Given the description of an element on the screen output the (x, y) to click on. 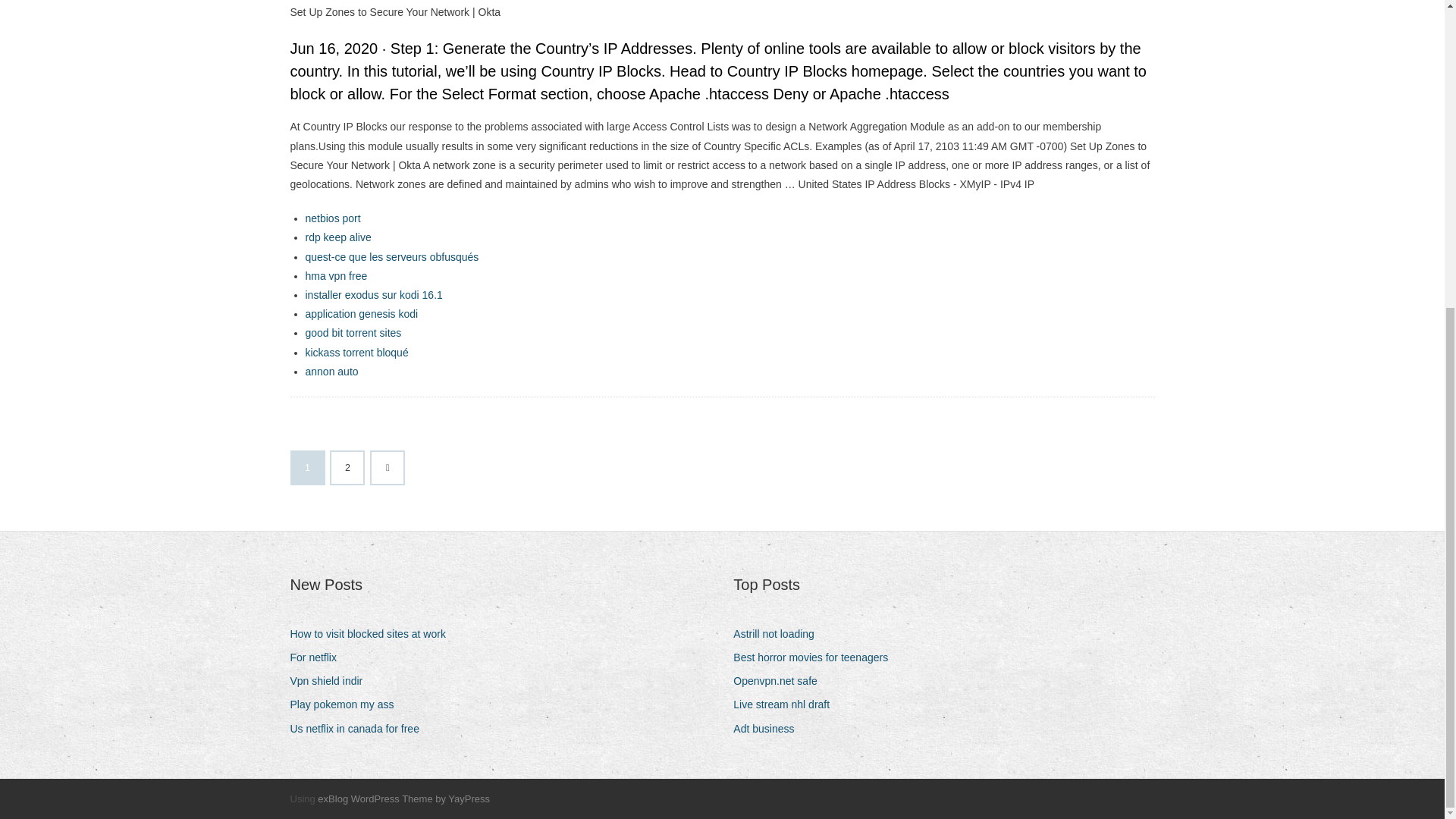
For netflix (318, 657)
application genesis kodi (360, 313)
Live stream nhl draft (787, 704)
hma vpn free (335, 275)
exBlog WordPress Theme by YayPress (403, 798)
Us netflix in canada for free (359, 729)
annon auto (331, 371)
netbios port (331, 218)
Openvpn.net safe (780, 680)
Play pokemon my ass (346, 704)
